Given the description of an element on the screen output the (x, y) to click on. 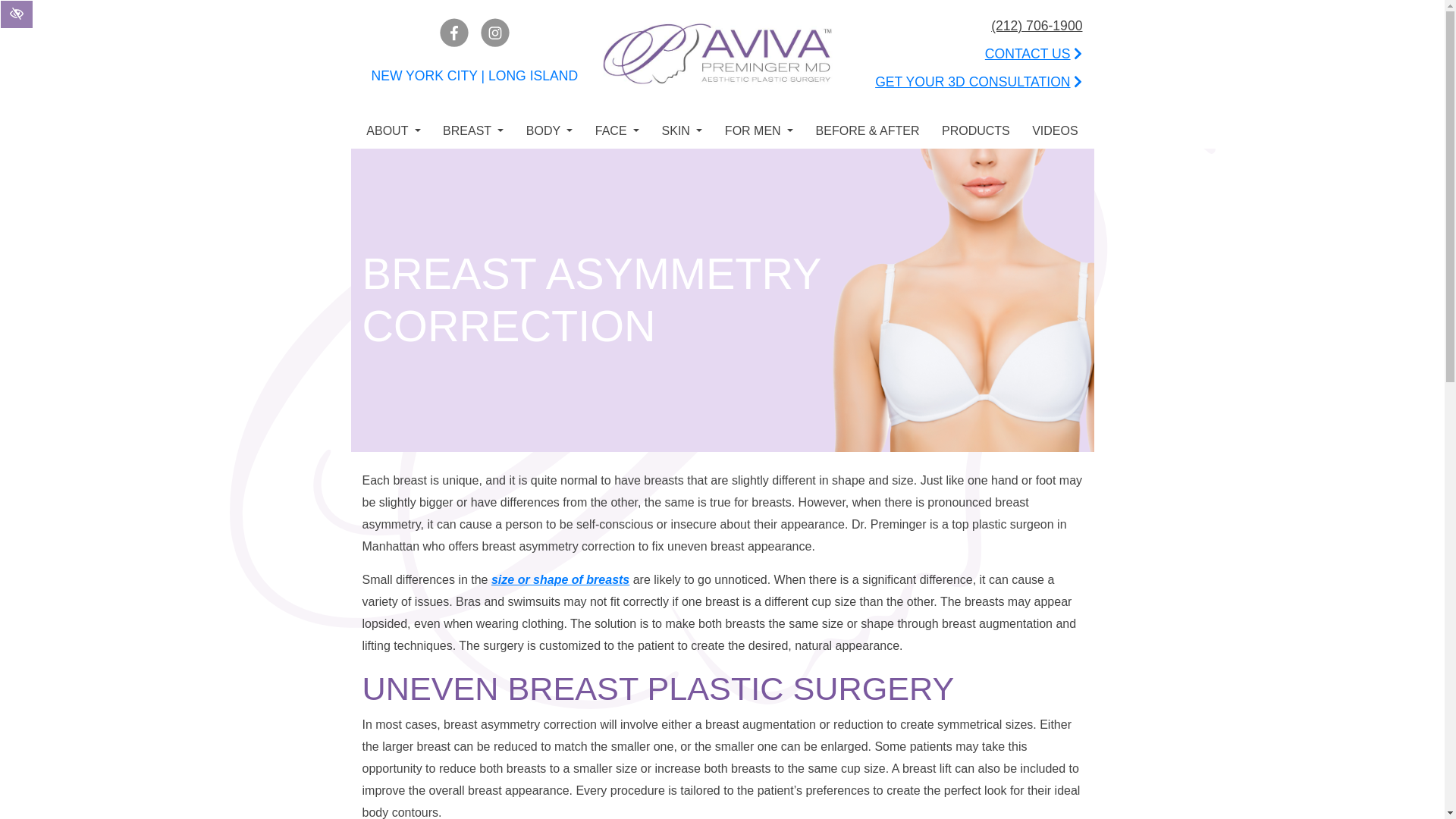
GET YOUR 3D CONSULTATION (978, 82)
BODY (549, 131)
New York City NY Cosmetic Breast Surgery (560, 579)
BREAST (472, 131)
Skip to main content (9, 4)
ABOUT (392, 131)
CONTACT US (1034, 53)
